Given the description of an element on the screen output the (x, y) to click on. 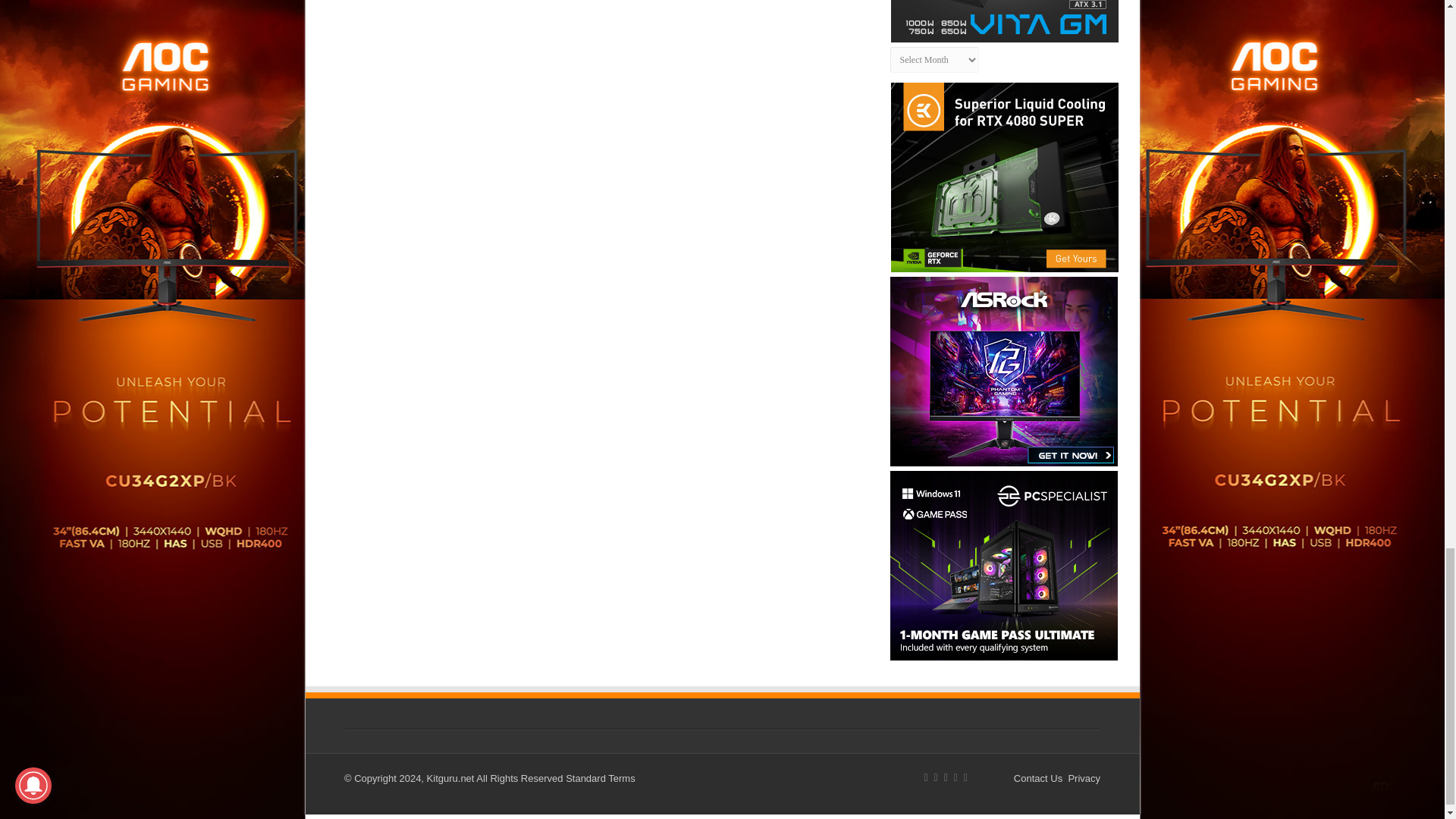
Rss (924, 778)
